Given the description of an element on the screen output the (x, y) to click on. 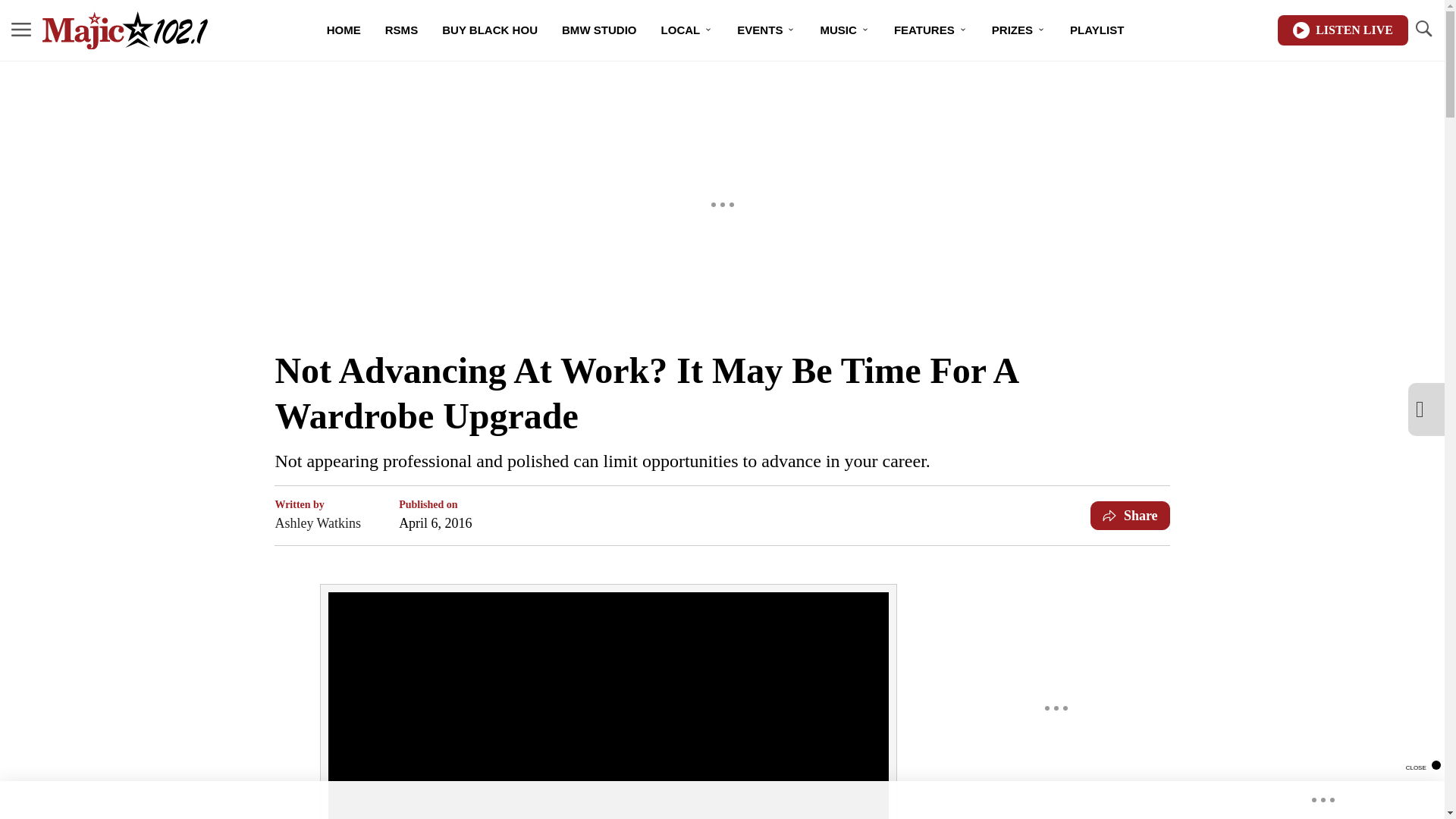
MENU (20, 29)
TOGGLE SEARCH (1422, 28)
BMW STUDIO (599, 30)
MENU (20, 30)
LOCAL (687, 30)
RSMS (400, 30)
PLAYLIST (1096, 30)
EVENTS (766, 30)
HOME (343, 30)
BUY BLACK HOU (489, 30)
